Given the description of an element on the screen output the (x, y) to click on. 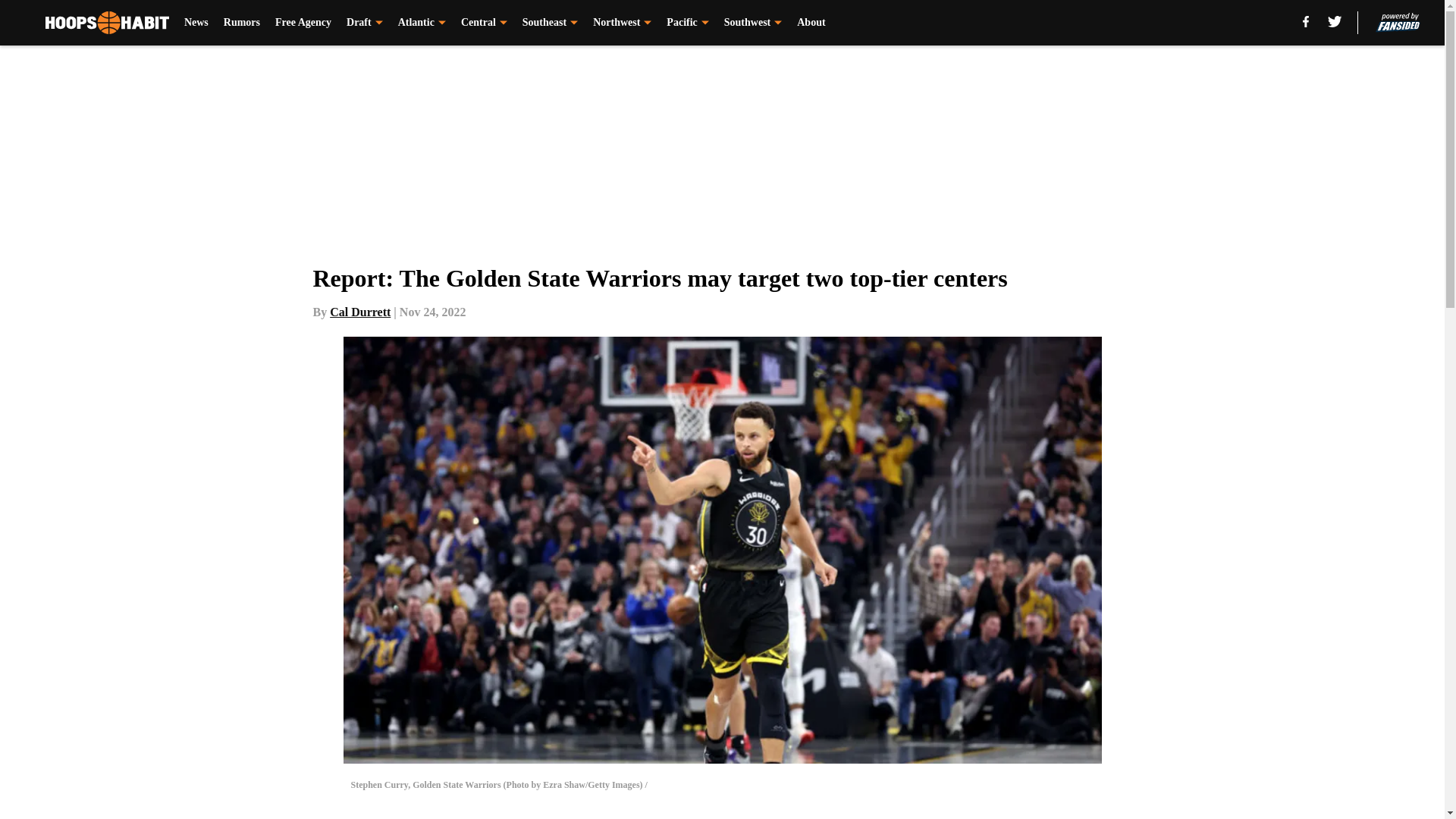
Rumors (242, 22)
News (196, 22)
Southeast (550, 22)
Atlantic (421, 22)
Draft (364, 22)
Free Agency (303, 22)
Northwest (621, 22)
Central (483, 22)
